Given the description of an element on the screen output the (x, y) to click on. 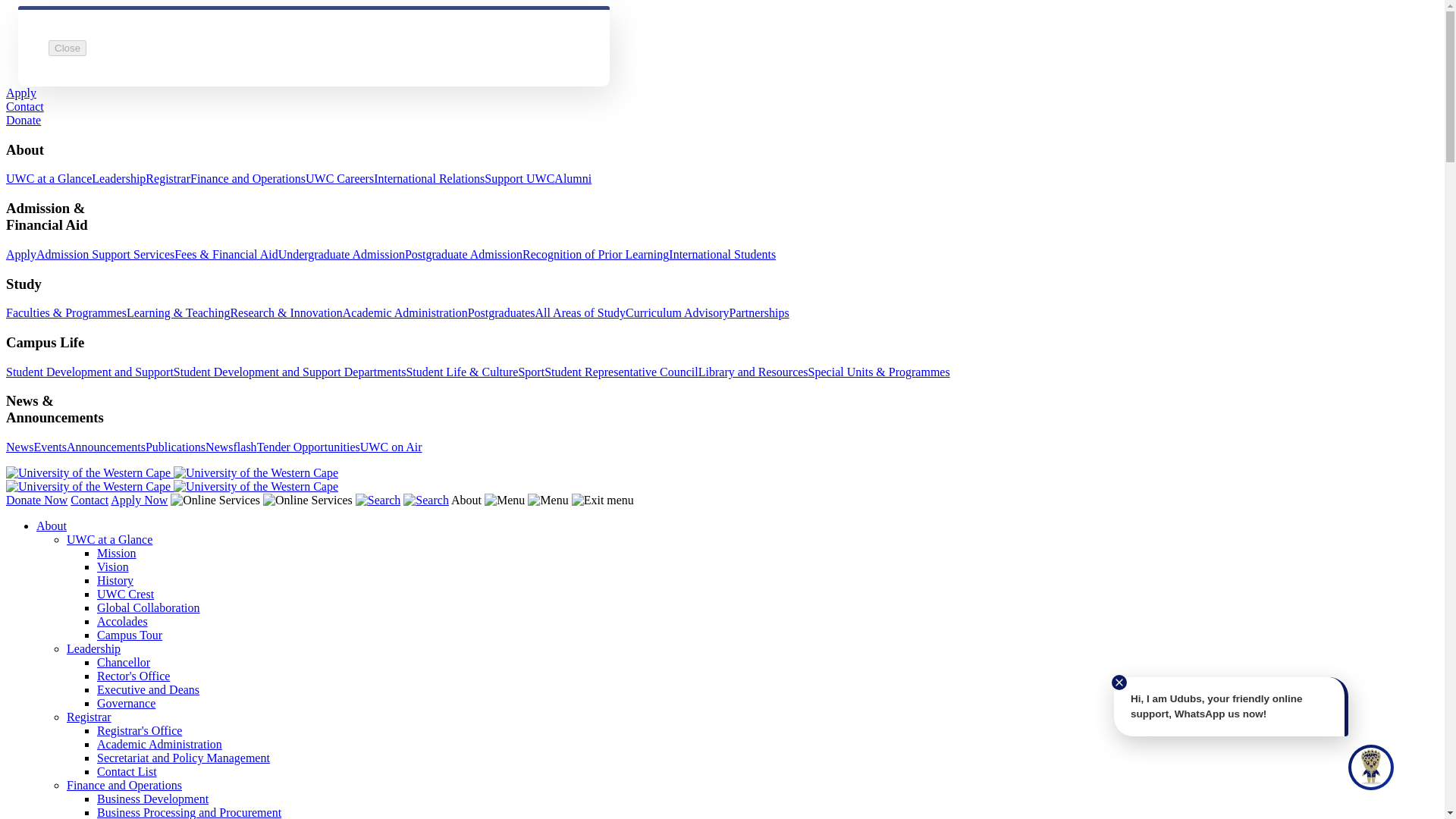
Support UWC (519, 178)
Student Development and Support Departments (289, 371)
All Areas of Study (580, 312)
Close menu (602, 499)
Curriculum Advisory (677, 312)
Publications (175, 446)
Tender Opportunities (308, 446)
Online Services (307, 499)
Partnerships (759, 312)
Postgraduate Admission (463, 254)
International Relations (429, 178)
News (19, 446)
Contact Us (88, 499)
Library and Resources (753, 371)
Alumni (572, 178)
